Given the description of an element on the screen output the (x, y) to click on. 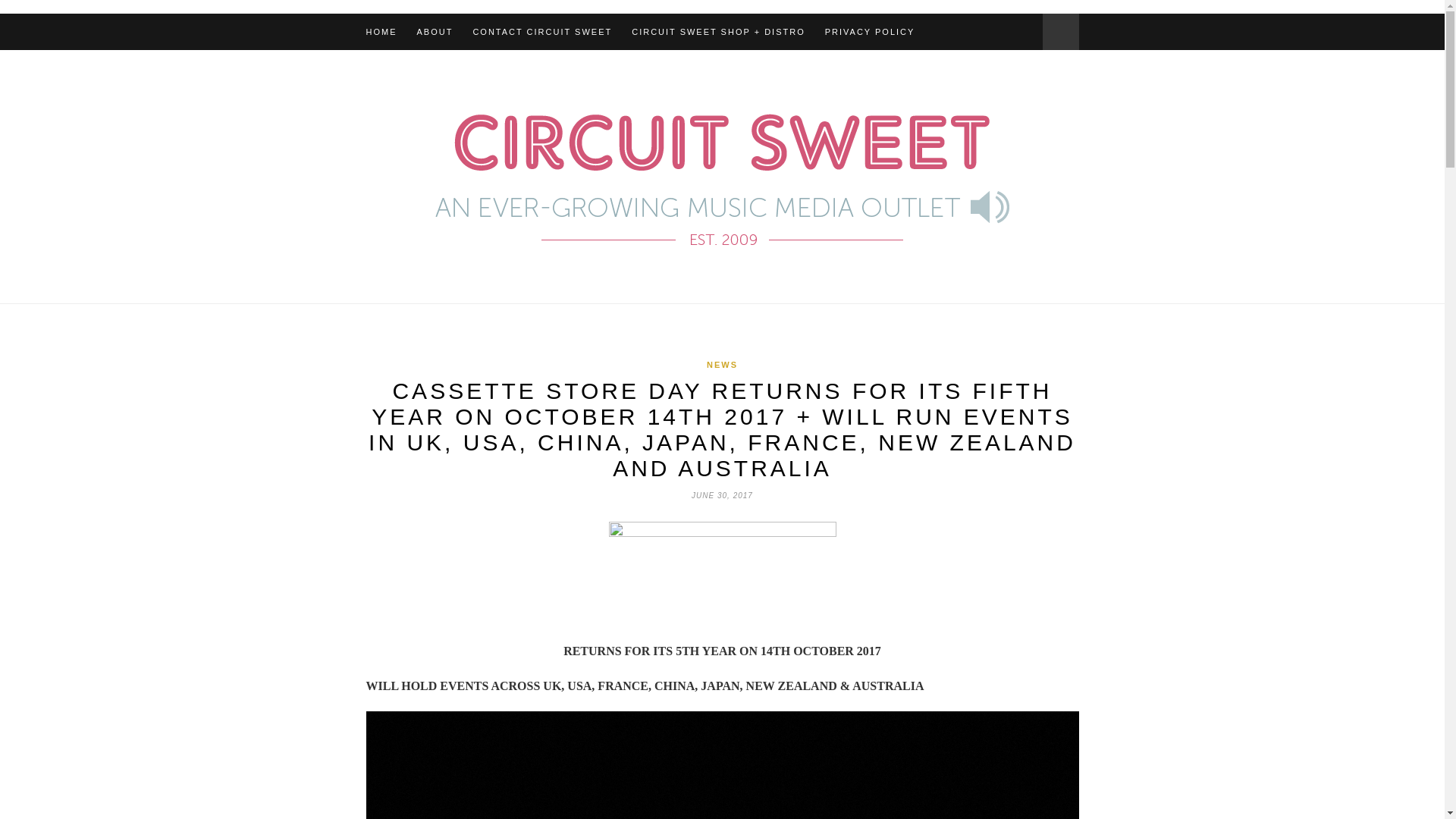
CONTACT CIRCUIT SWEET (541, 31)
PRIVACY POLICY (870, 31)
ABOUT (434, 31)
View all posts in News (722, 364)
NEWS (722, 364)
